Given the description of an element on the screen output the (x, y) to click on. 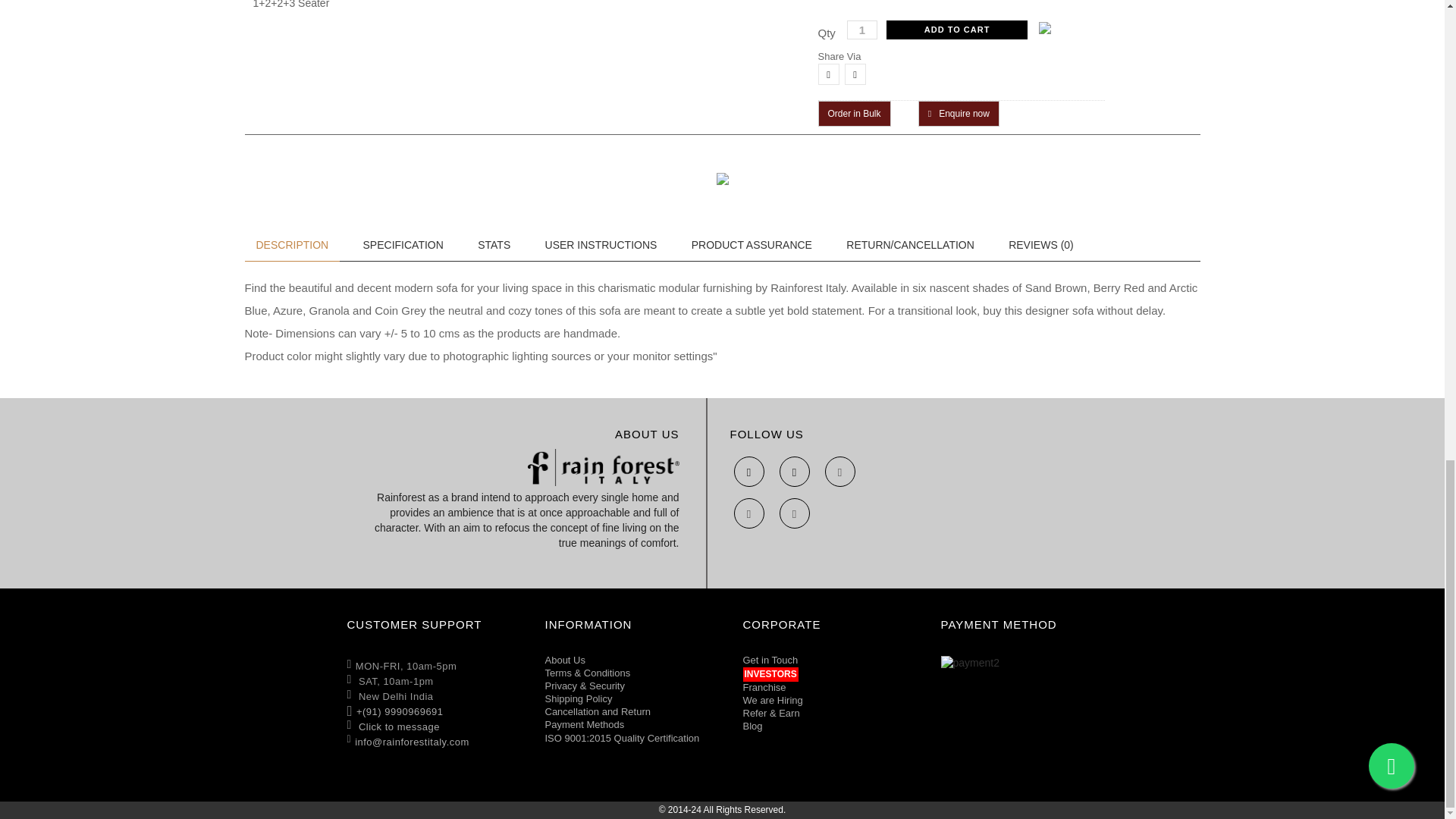
Add to Cart (956, 29)
1 (862, 29)
Order in Bulk (852, 113)
  Enquire now (958, 113)
Your Store (603, 467)
Add to Cart (956, 29)
